Given the description of an element on the screen output the (x, y) to click on. 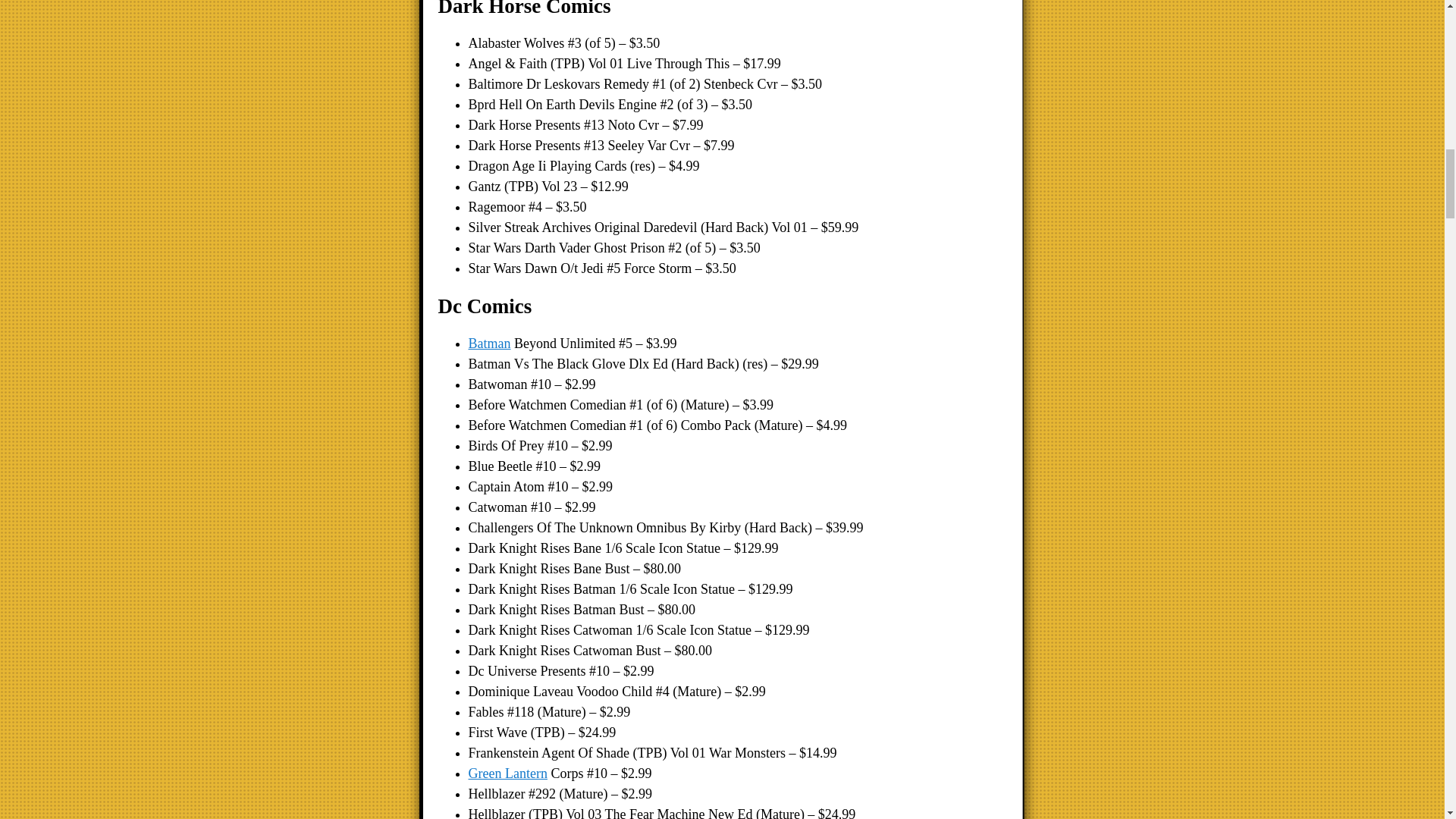
Batman 3 (489, 343)
Green Lantern (507, 773)
Green Lantern Movie (507, 773)
Batman (489, 343)
